Given the description of an element on the screen output the (x, y) to click on. 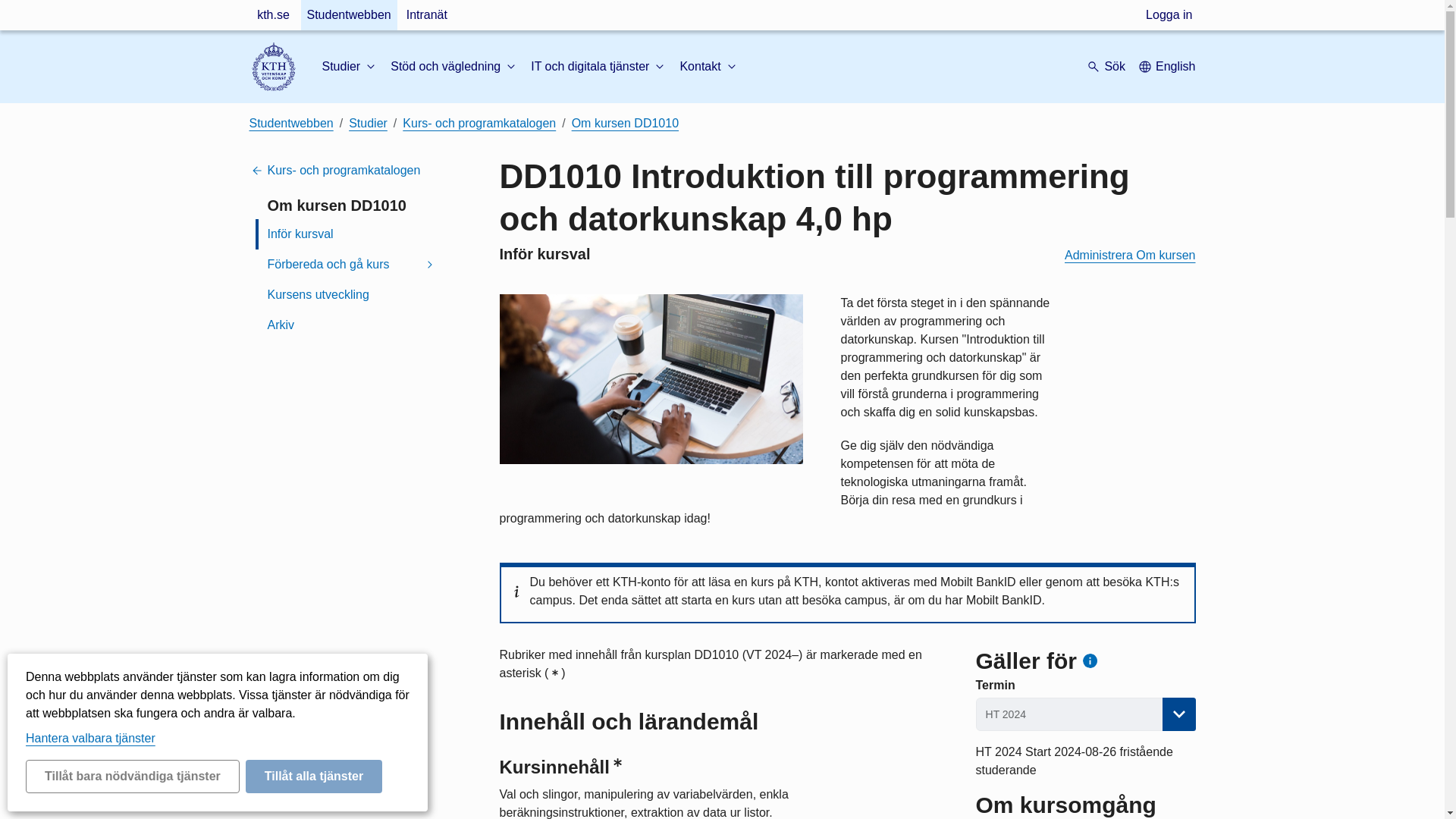
Studentwebben (347, 15)
kth.se (272, 15)
Kontakt (708, 66)
Administrera Om kursen (1129, 254)
Studier (349, 66)
Logga in (1168, 15)
